Given the description of an element on the screen output the (x, y) to click on. 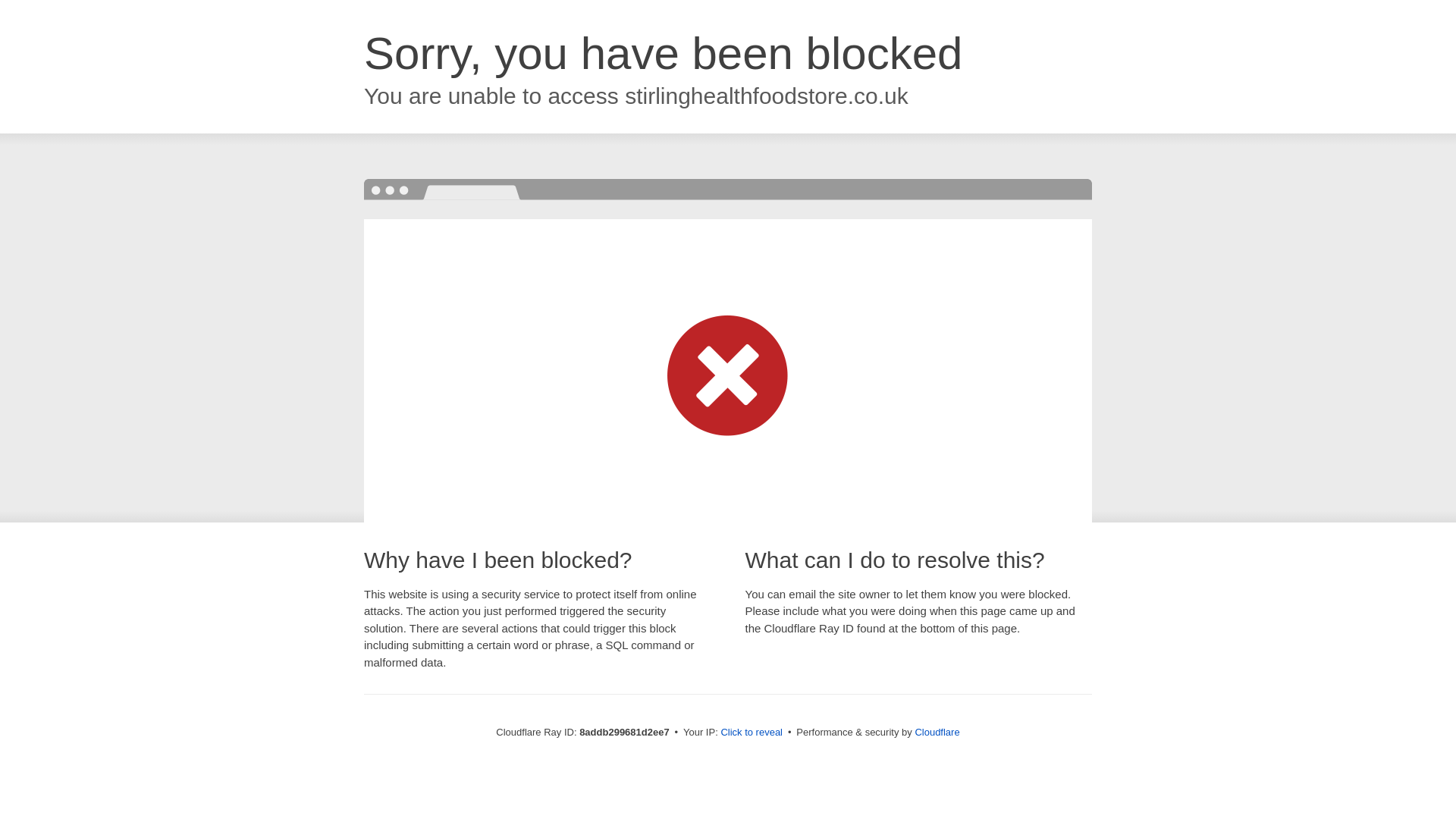
Click to reveal (751, 732)
Cloudflare (936, 731)
